Given the description of an element on the screen output the (x, y) to click on. 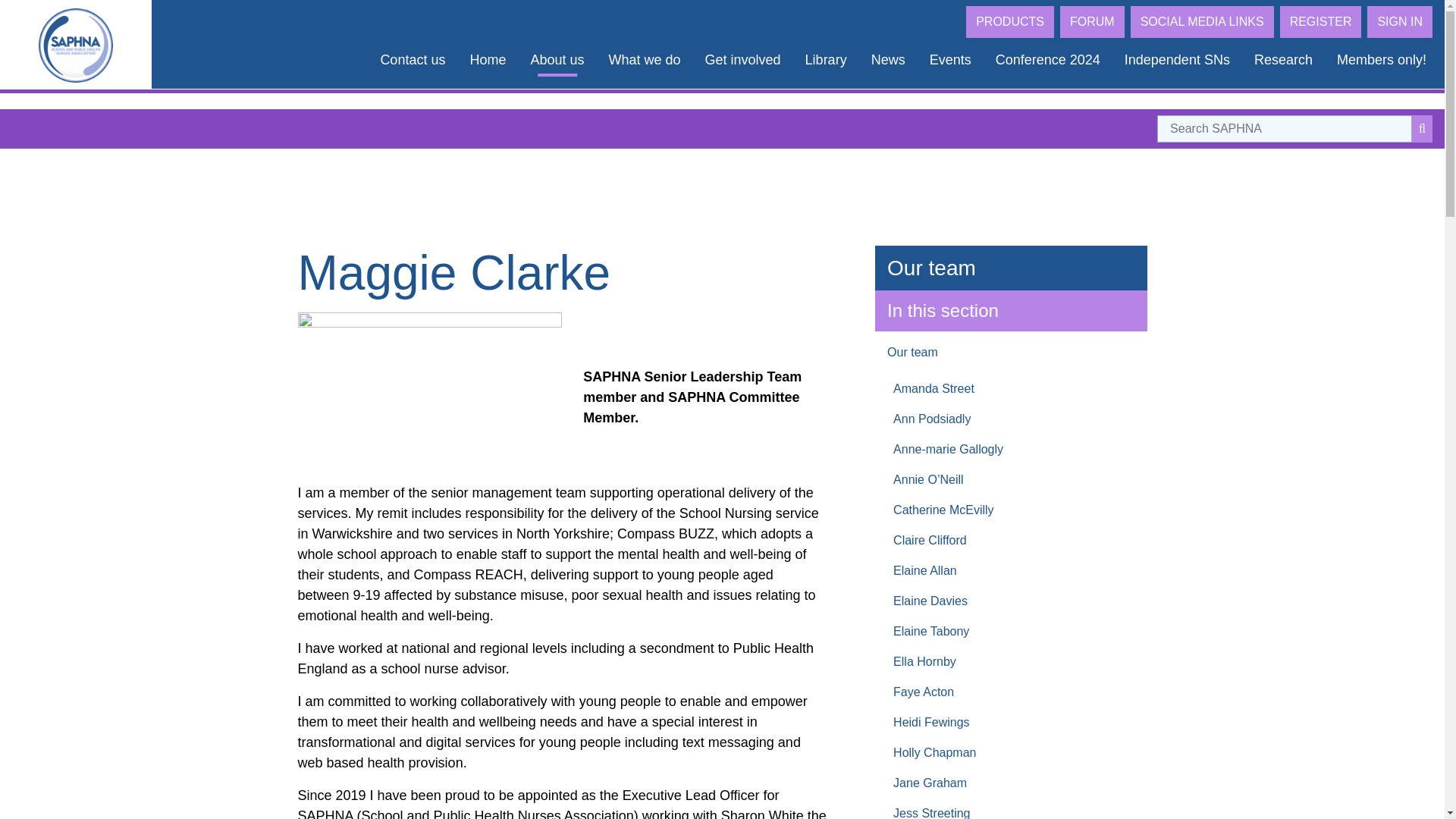
FORUM (1091, 21)
SIGN IN (1399, 21)
Home (487, 59)
News (888, 59)
Library (826, 59)
REGISTER (1320, 21)
What we do (644, 59)
About us (556, 59)
SOCIAL MEDIA LINKS (1202, 21)
skip to main content (53, 8)
